Given the description of an element on the screen output the (x, y) to click on. 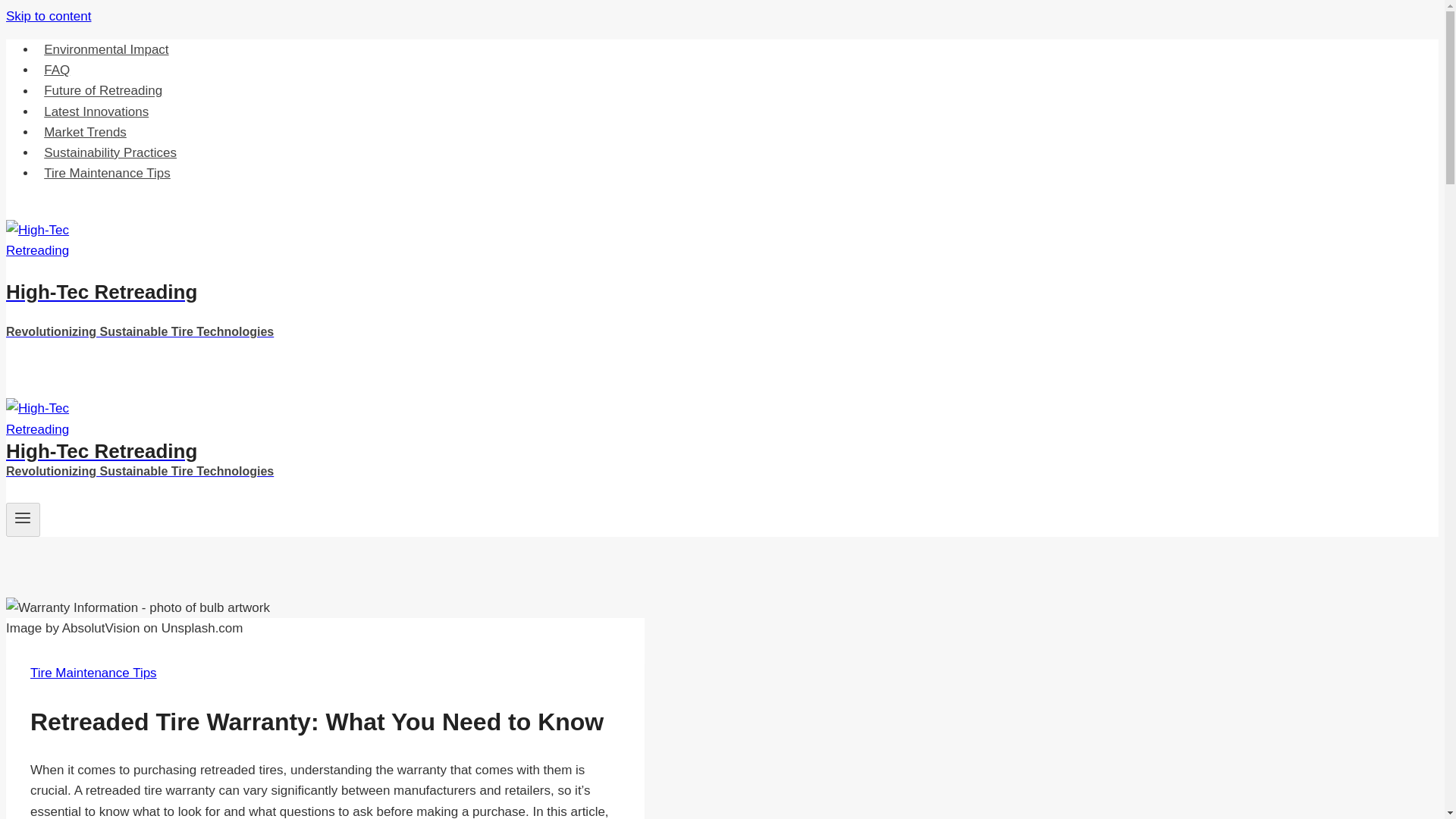
Toggle Menu (22, 519)
FAQ (56, 70)
Sustainability Practices (110, 152)
Environmental Impact (106, 49)
Future of Retreading (103, 90)
Toggle Menu (22, 517)
Tire Maintenance Tips (106, 173)
Skip to content (47, 16)
Latest Innovations (95, 111)
Tire Maintenance Tips (93, 672)
Skip to content (47, 16)
Market Trends (84, 132)
